Given the description of an element on the screen output the (x, y) to click on. 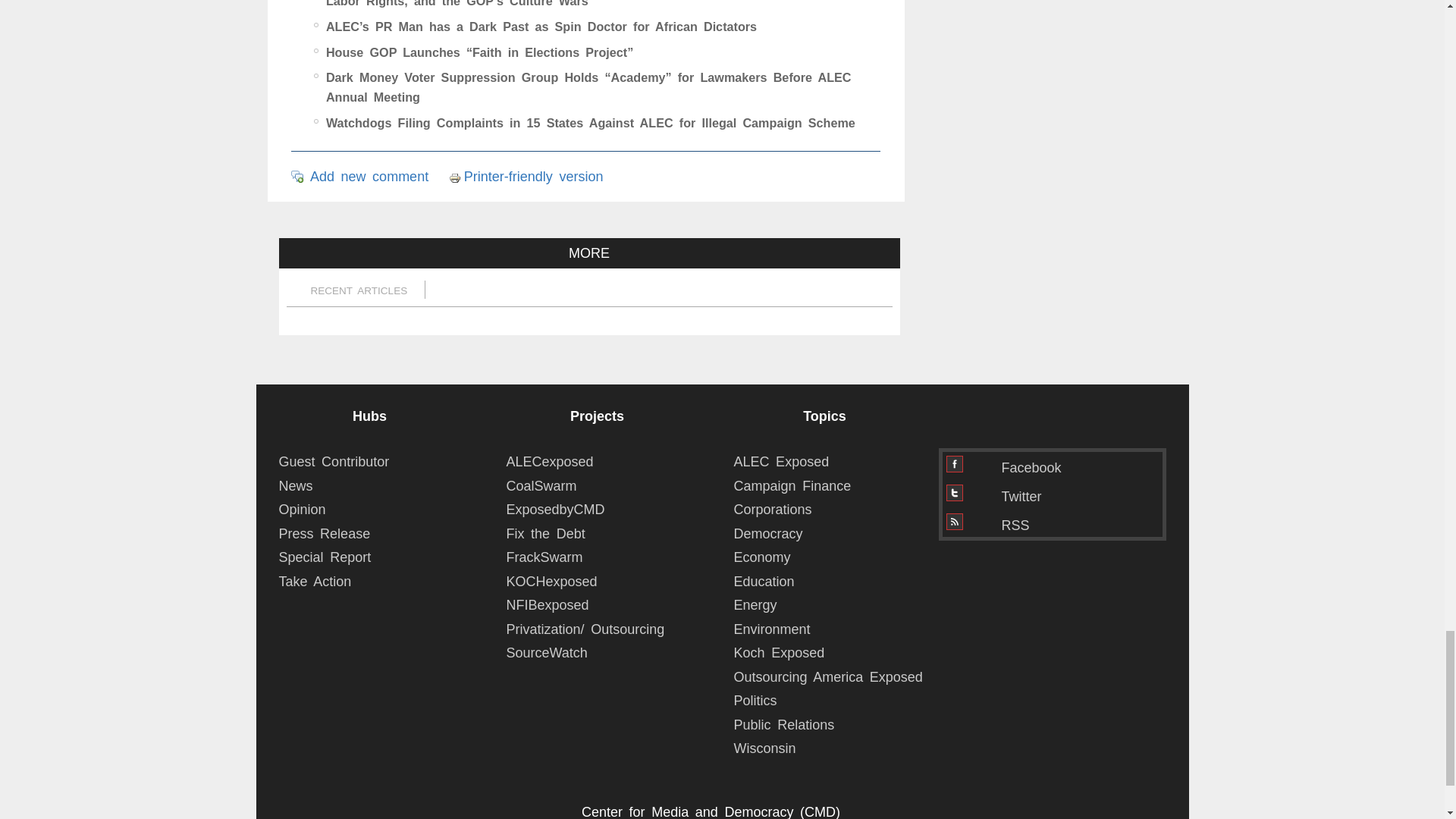
Display a printer-friendly version of this page. (526, 176)
Share your thoughts and opinions related to this posting. (369, 176)
Printer-friendly version (456, 177)
